Given the description of an element on the screen output the (x, y) to click on. 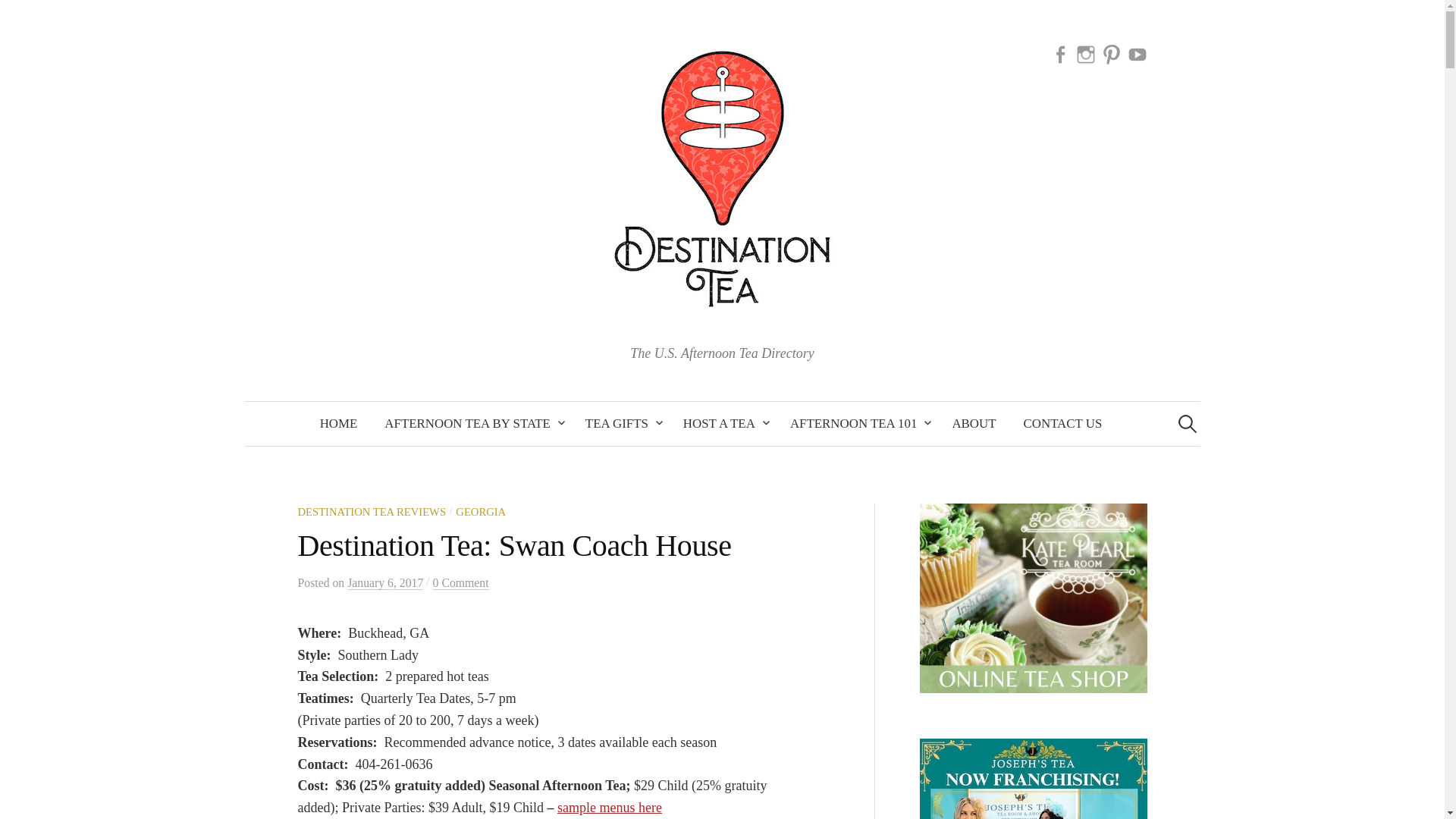
Destination Tea on YouTube (1136, 53)
AFTERNOON TEA BY STATE (471, 423)
Destination Tea on Pinterest (1111, 53)
Destination Tea on Instagram (1085, 53)
Destination Tea Facebook Page (1059, 53)
HOME (338, 423)
